Given the description of an element on the screen output the (x, y) to click on. 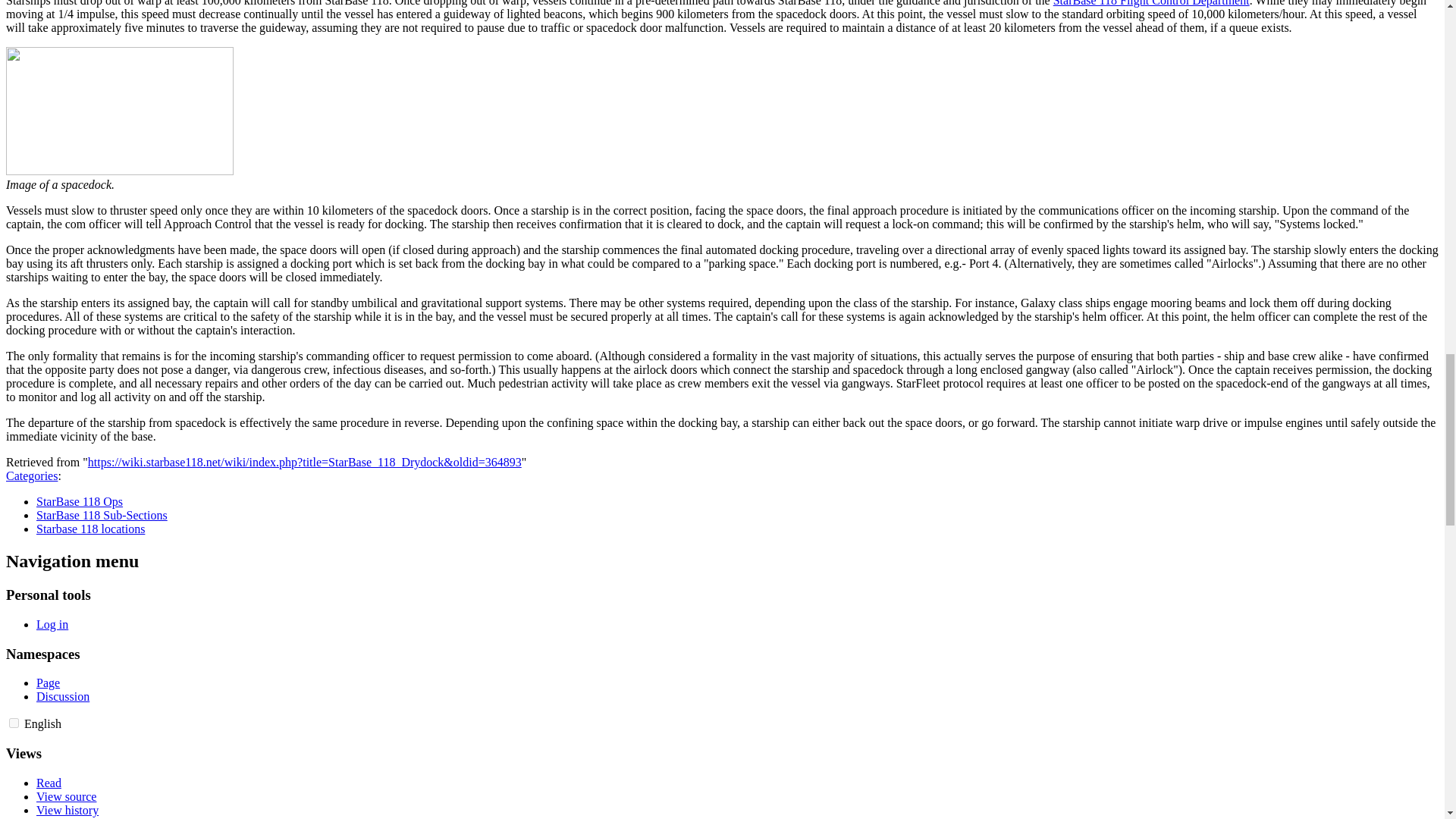
on (13, 723)
